Given the description of an element on the screen output the (x, y) to click on. 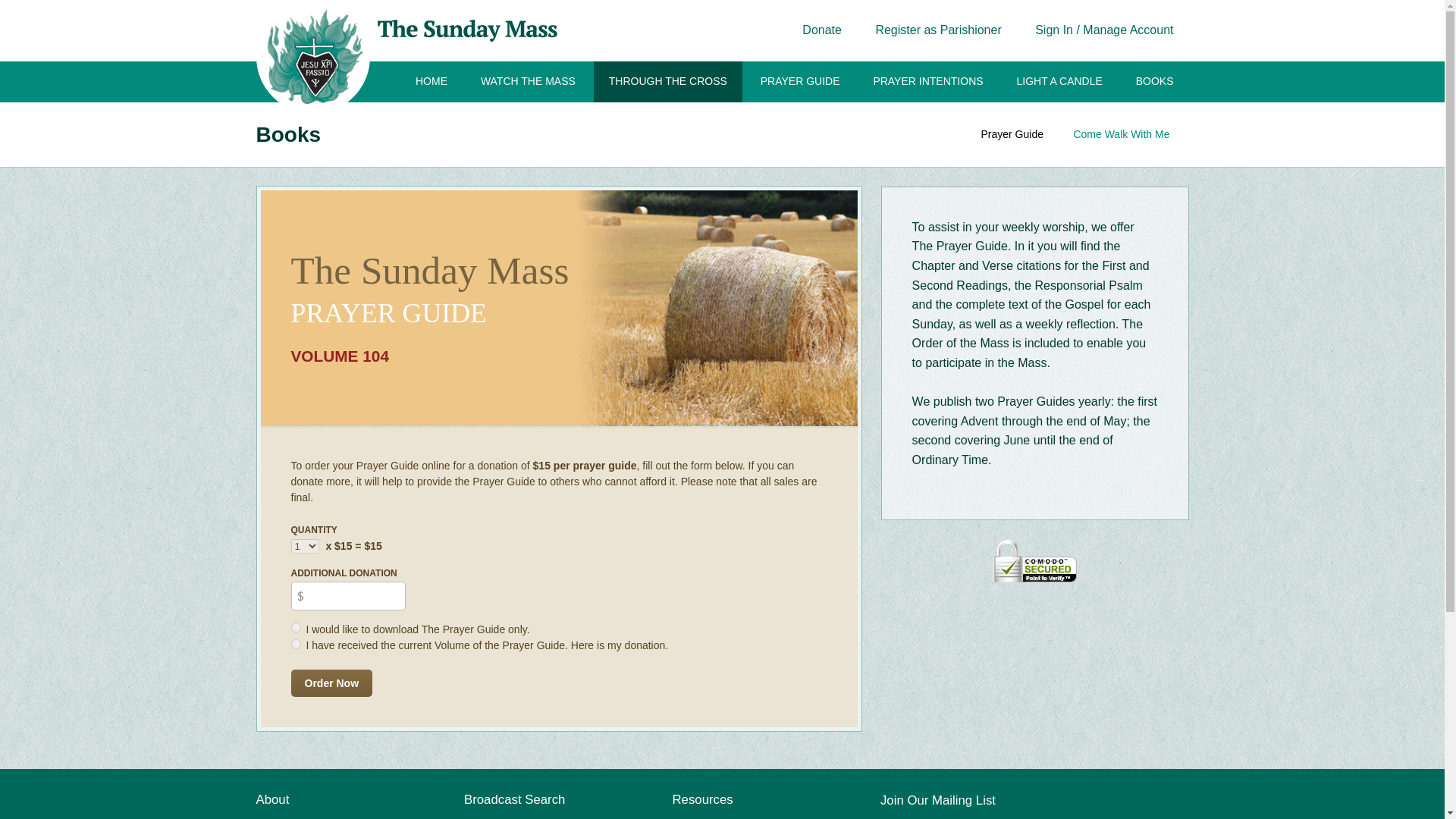
Order Now (331, 682)
download (296, 627)
Donate (822, 30)
PRAYER GUIDE (800, 81)
Register as Parishioner (938, 30)
The Sunday Mass (299, 816)
Nationwide (490, 816)
Prayer Guide (1012, 134)
LIGHT A CANDLE (1058, 81)
none (296, 644)
PRAYER INTENTIONS (927, 81)
HOME (431, 81)
BOOKS (1155, 81)
WATCH THE MASS (528, 81)
Frequently Asked Questions (738, 816)
